Given the description of an element on the screen output the (x, y) to click on. 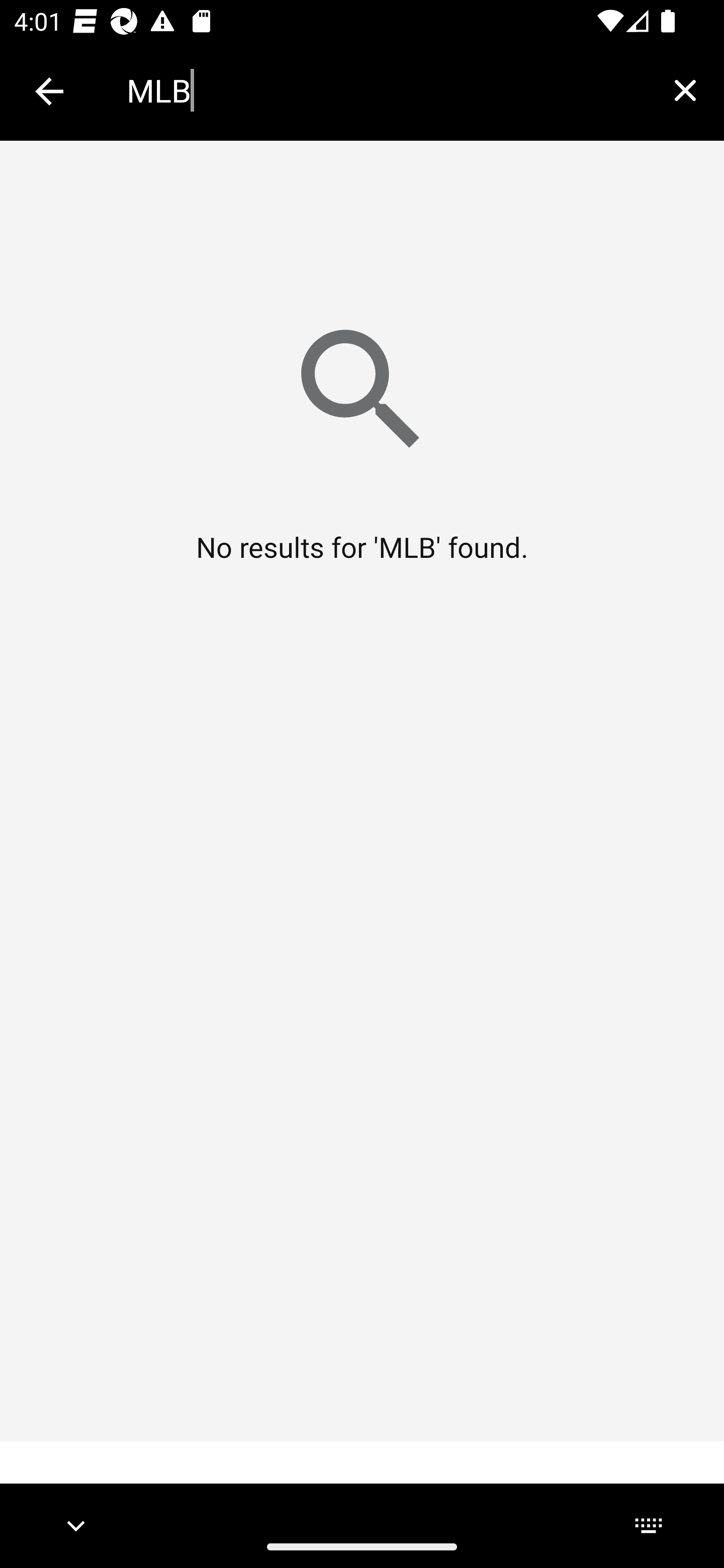
Collapse (49, 91)
Clear query (685, 89)
MLB (386, 90)
